Given the description of an element on the screen output the (x, y) to click on. 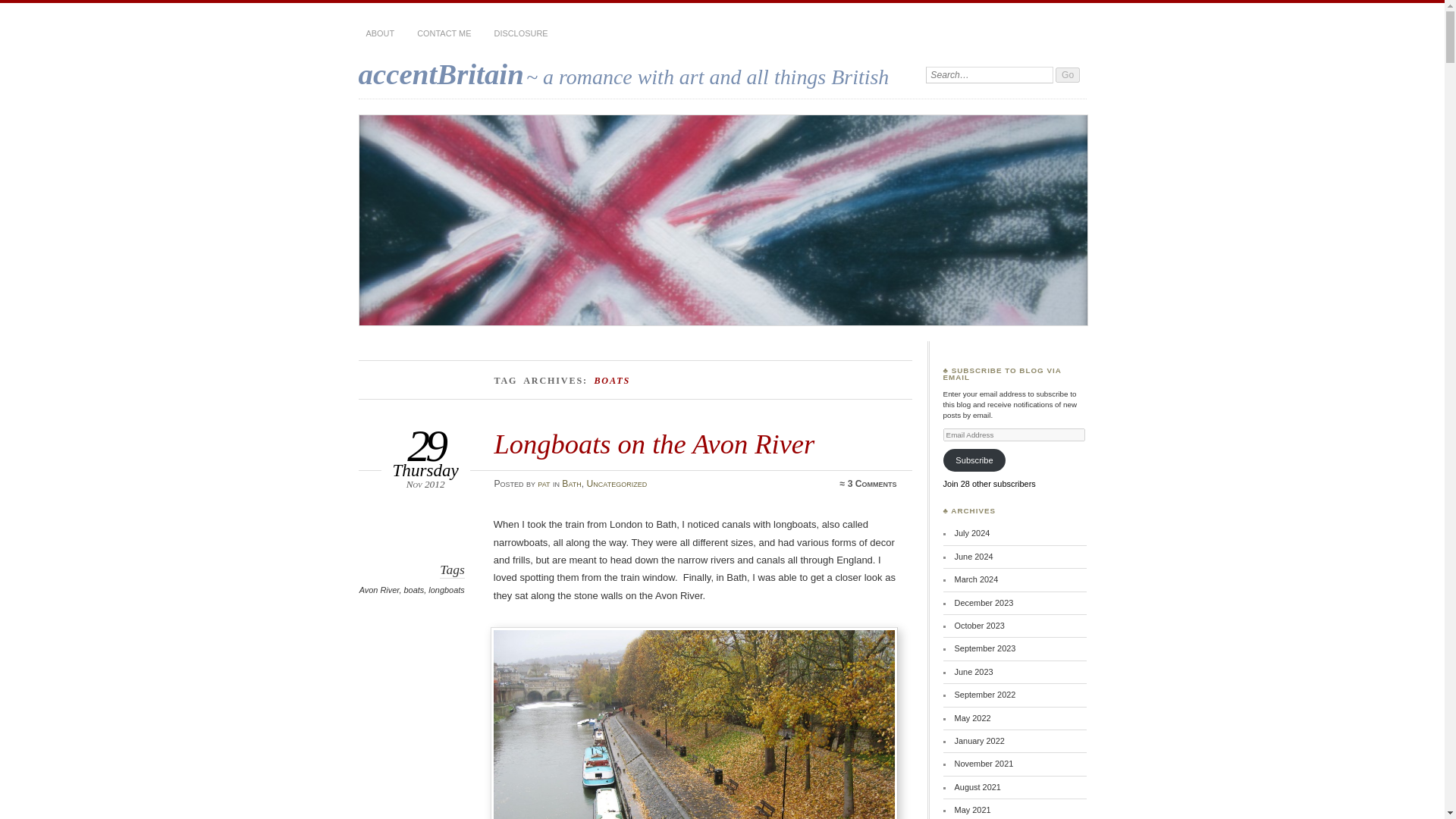
Avon River (378, 589)
Go (1067, 74)
3 Comments (871, 483)
pat (543, 483)
accentBritain (440, 73)
View all posts by pat (543, 483)
CONTACT ME (444, 33)
Go (1067, 74)
Bath (571, 483)
